Given the description of an element on the screen output the (x, y) to click on. 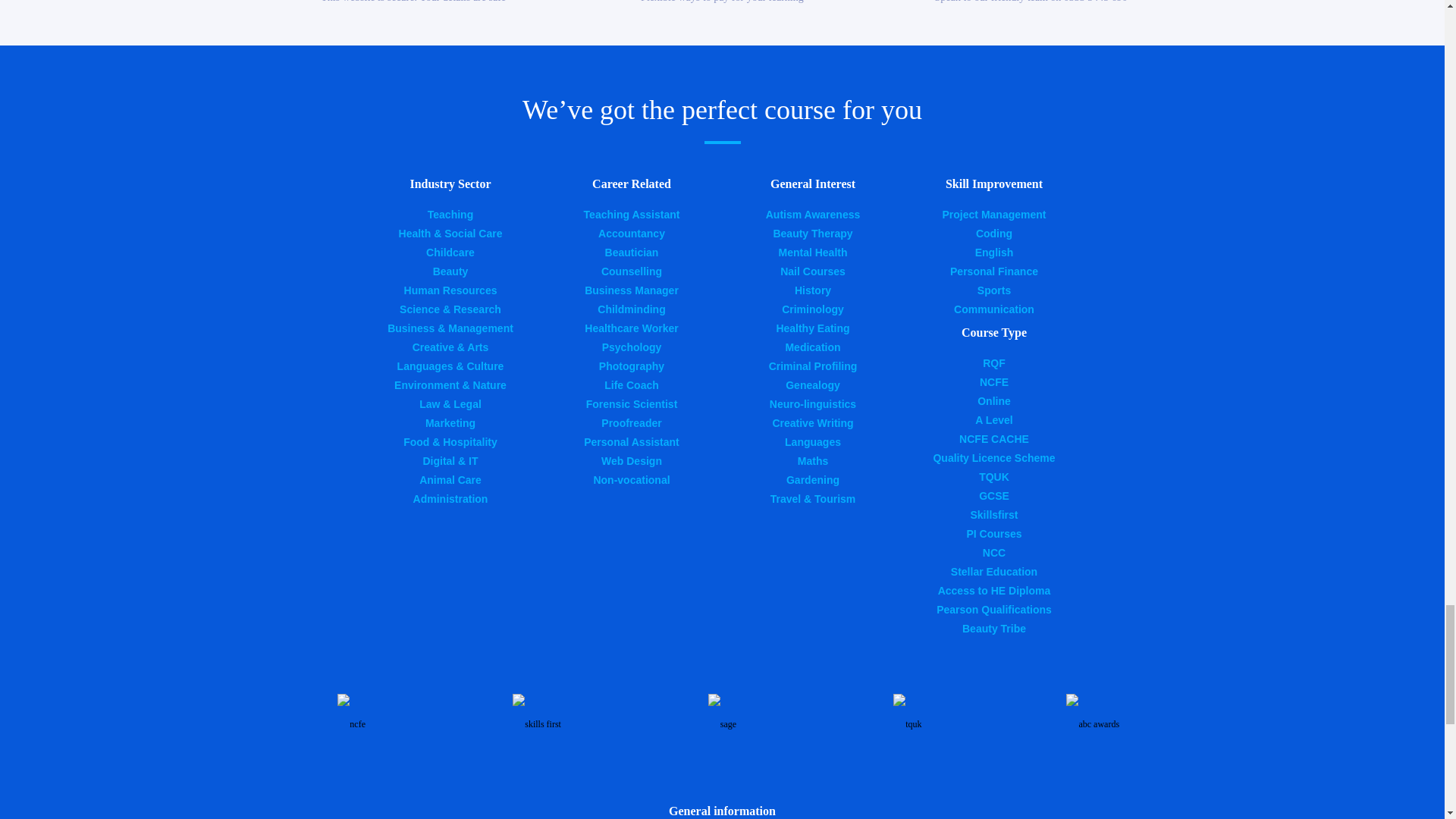
Beauty (450, 271)
Industry Sector (449, 183)
Teaching (450, 214)
Childcare (450, 252)
Human Resources (450, 290)
